Given the description of an element on the screen output the (x, y) to click on. 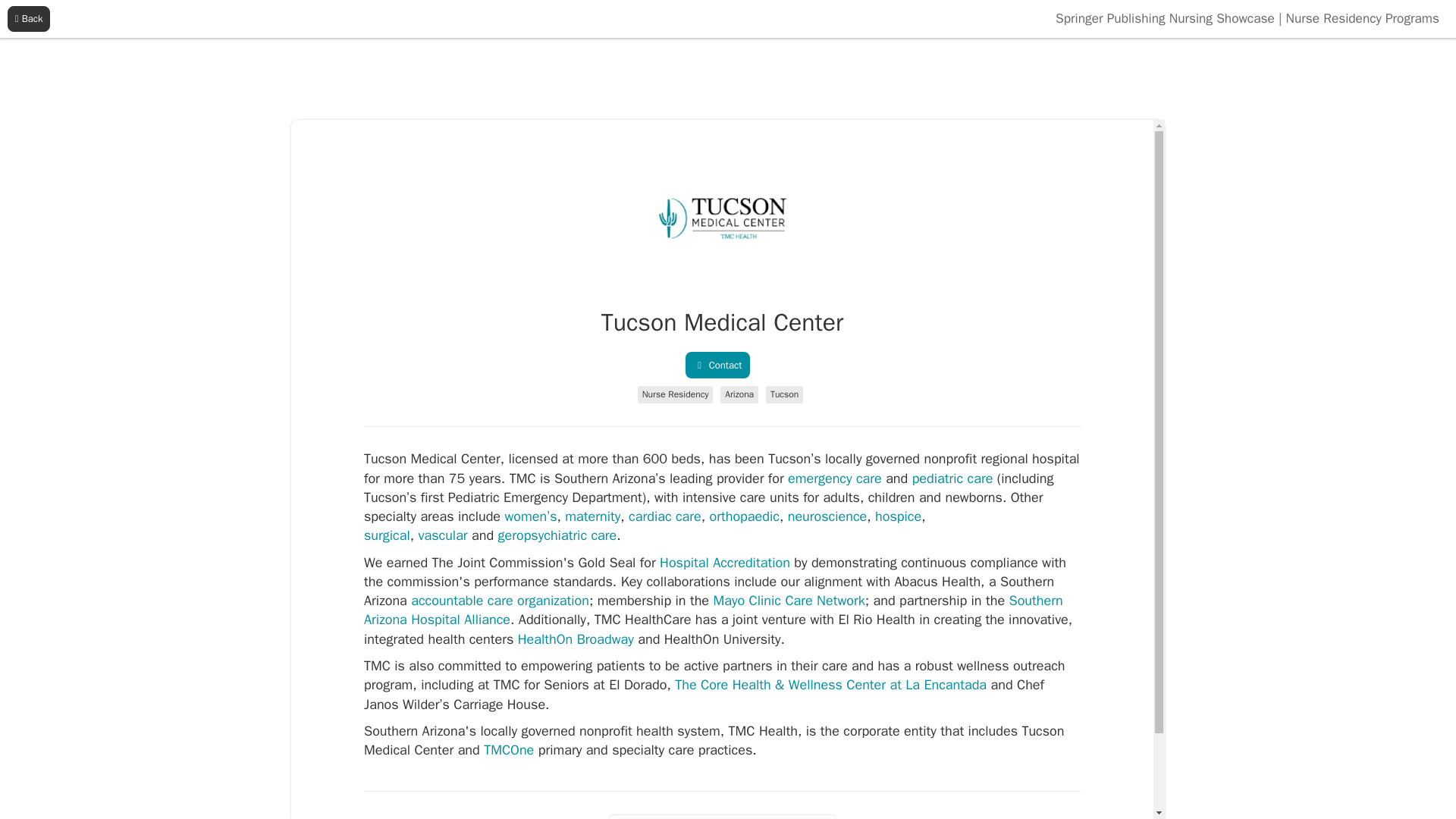
orthopaedic (744, 515)
accountable care organization (499, 600)
Southern Arizona Hospital Alliance (713, 610)
cardiac care (664, 515)
hospice (898, 515)
maternity (592, 515)
pediatric care (952, 478)
geropsychiatric care (557, 535)
emergency care (834, 478)
TMCOne (508, 750)
surgical (387, 535)
vascular (443, 535)
HealthOn Broadway (575, 638)
neuroscience (827, 515)
Contact (718, 365)
